Given the description of an element on the screen output the (x, y) to click on. 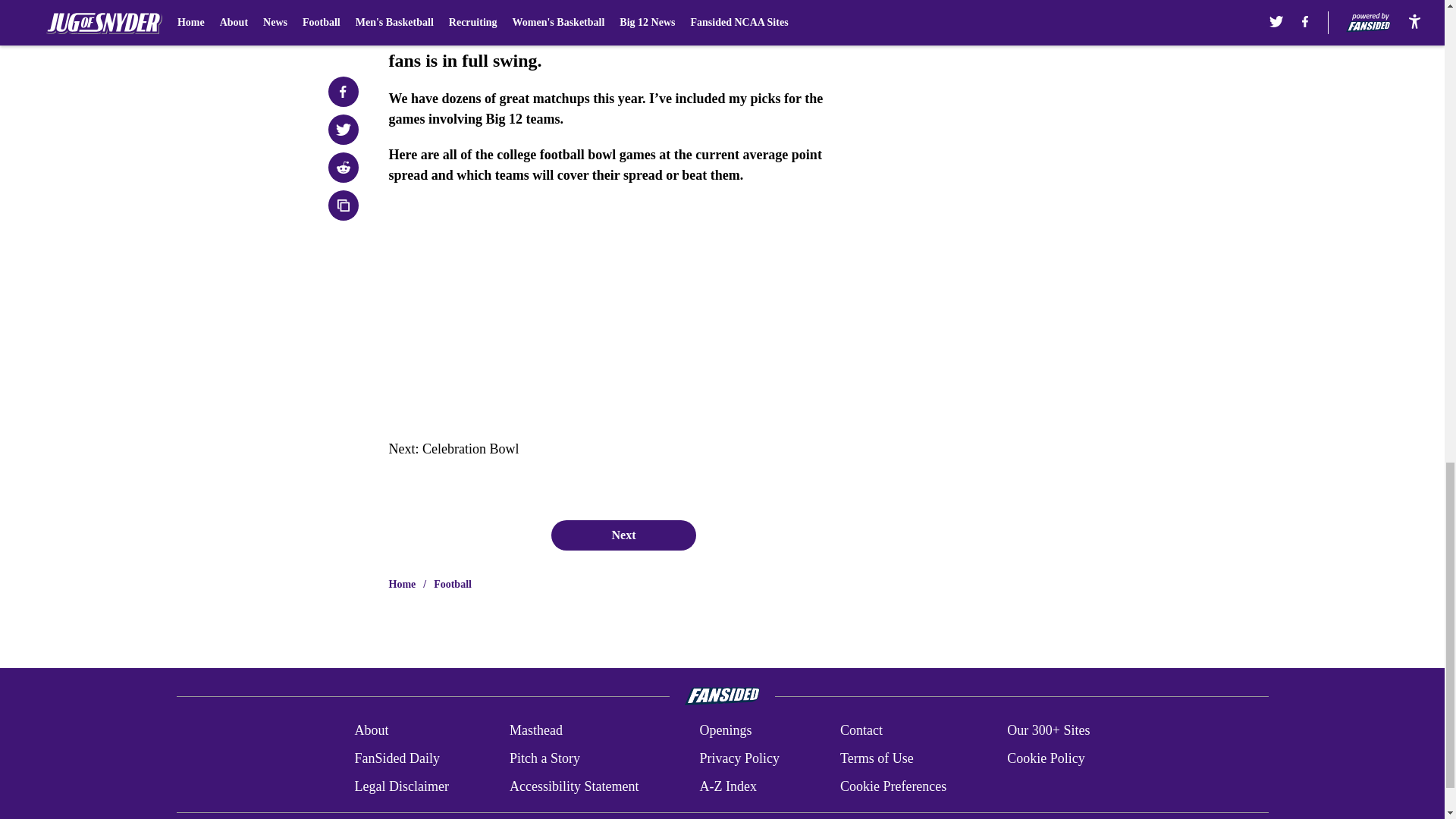
Contact (861, 730)
FanSided Daily (396, 758)
3rd party ad content (1047, 54)
Masthead (535, 730)
Pitch a Story (544, 758)
Next (622, 535)
Terms of Use (877, 758)
Openings (724, 730)
Privacy Policy (738, 758)
Home (401, 584)
Football (452, 584)
About (370, 730)
